Given the description of an element on the screen output the (x, y) to click on. 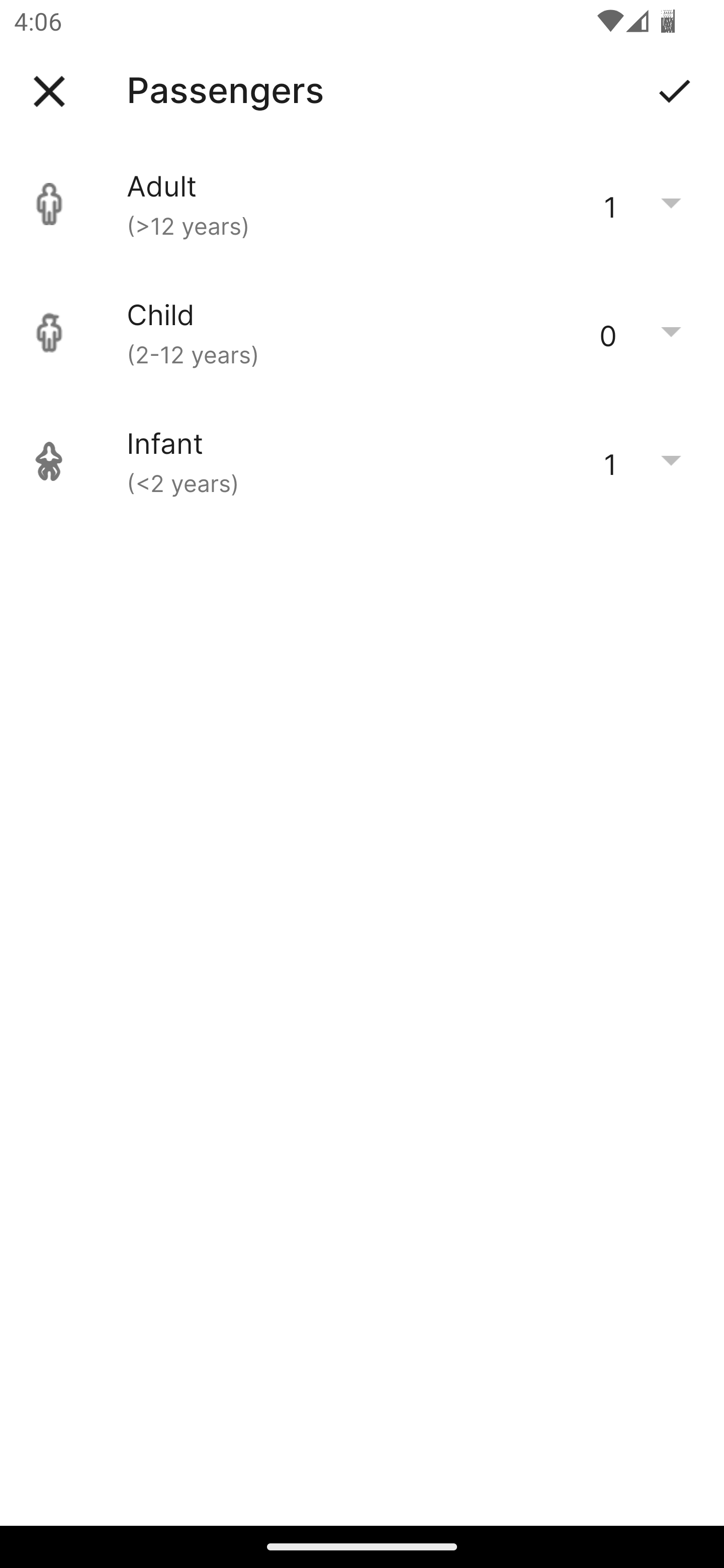
Adult (>12 years) 1 (362, 204)
Child (2-12 years) 0 (362, 332)
Infant (<2 years) 1 (362, 461)
